Given the description of an element on the screen output the (x, y) to click on. 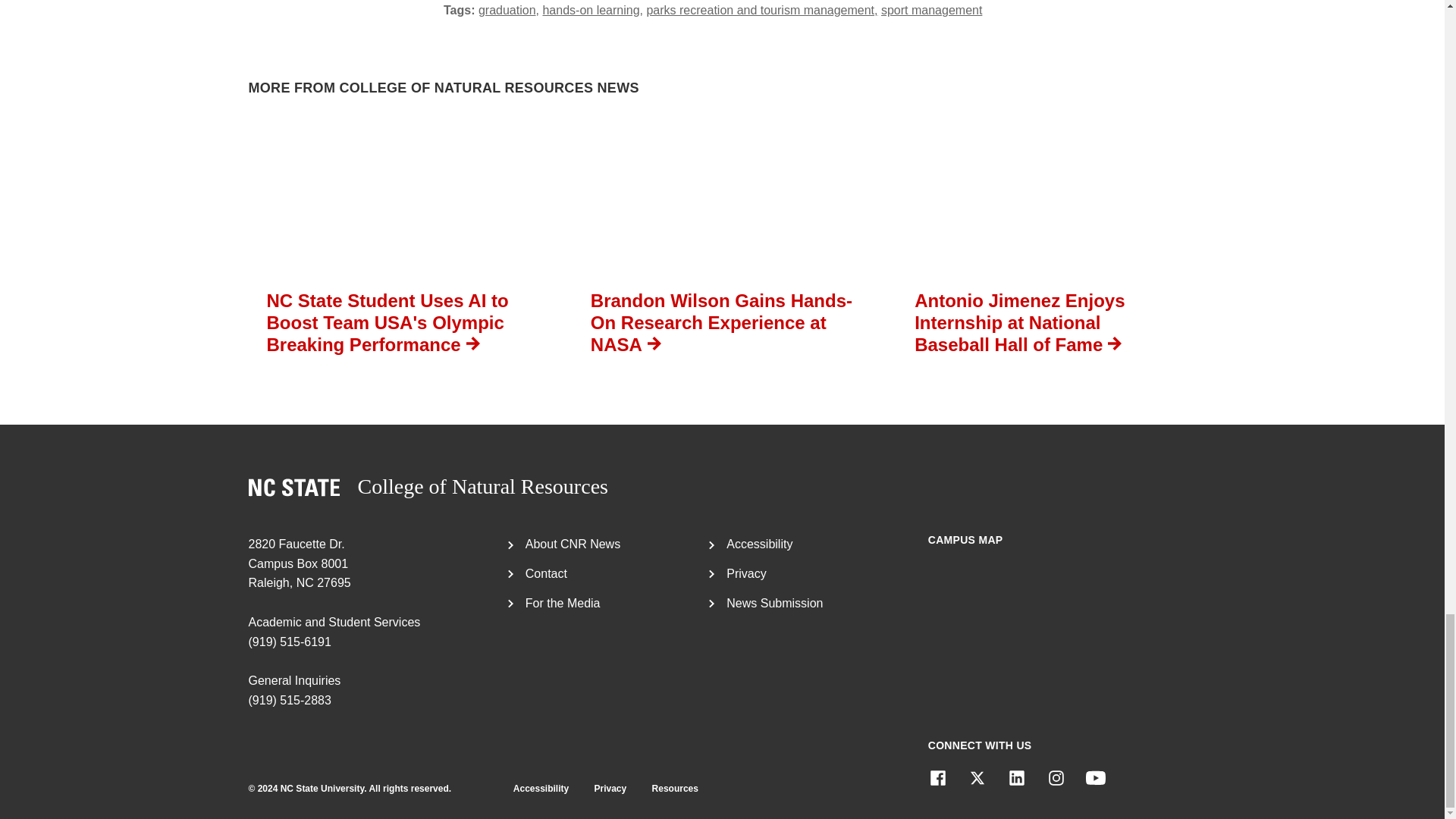
parks recreation and tourism management (761, 10)
graduation (508, 10)
Brandon Wilson Gains Hands-On Research Experience at NASA (722, 240)
Contact (546, 573)
Privacy (745, 573)
News Submission (774, 603)
Accessibility (759, 543)
X (428, 487)
